Given the description of an element on the screen output the (x, y) to click on. 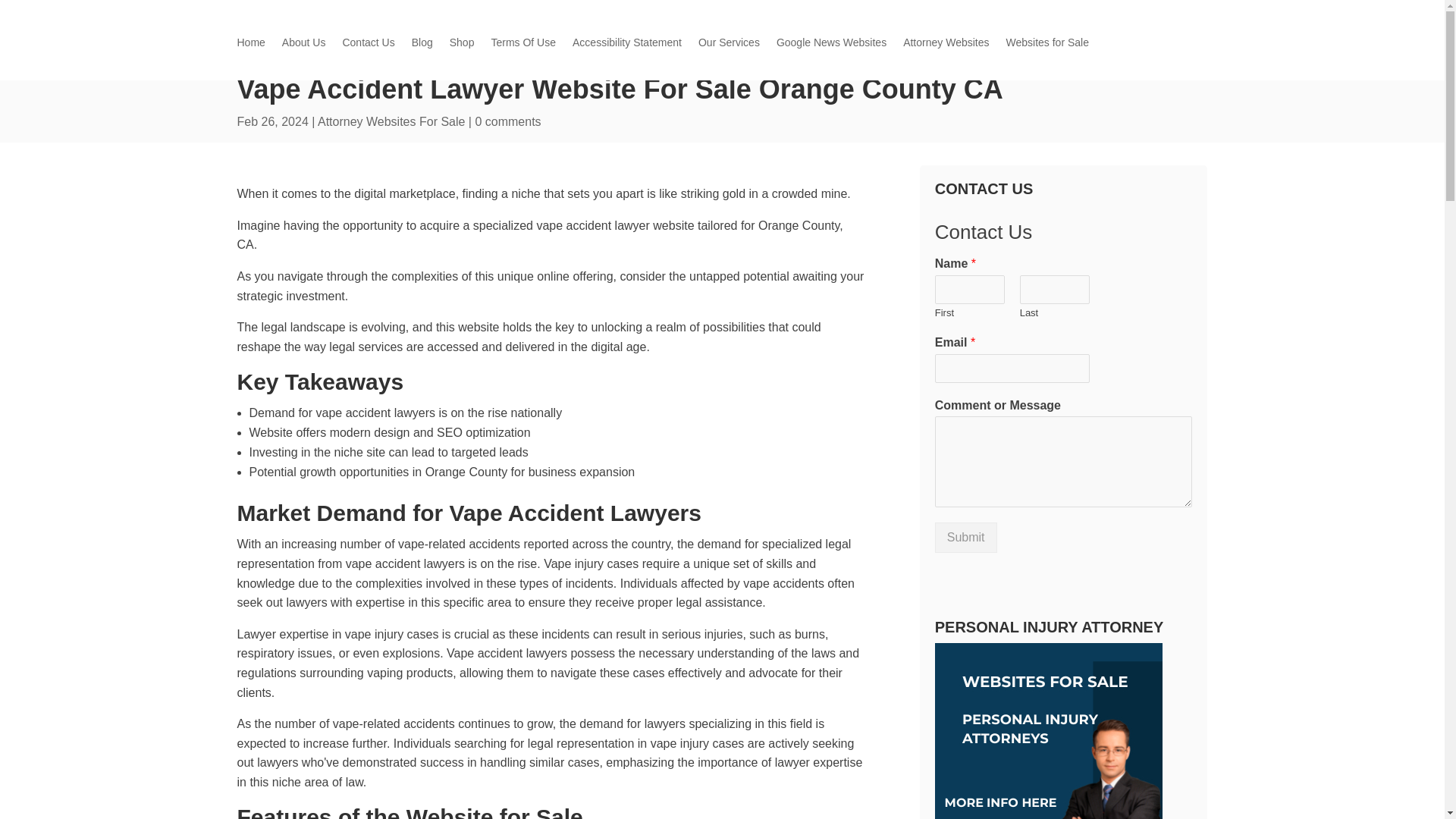
Google News Websites (831, 45)
Submit (965, 537)
Attorney Websites (945, 45)
Websites for Sale (1046, 45)
Attorney Websites For Sale (390, 121)
Terms Of Use (523, 45)
Home (249, 45)
0 comments (507, 121)
About Us (304, 45)
Shop (461, 45)
